Given the description of an element on the screen output the (x, y) to click on. 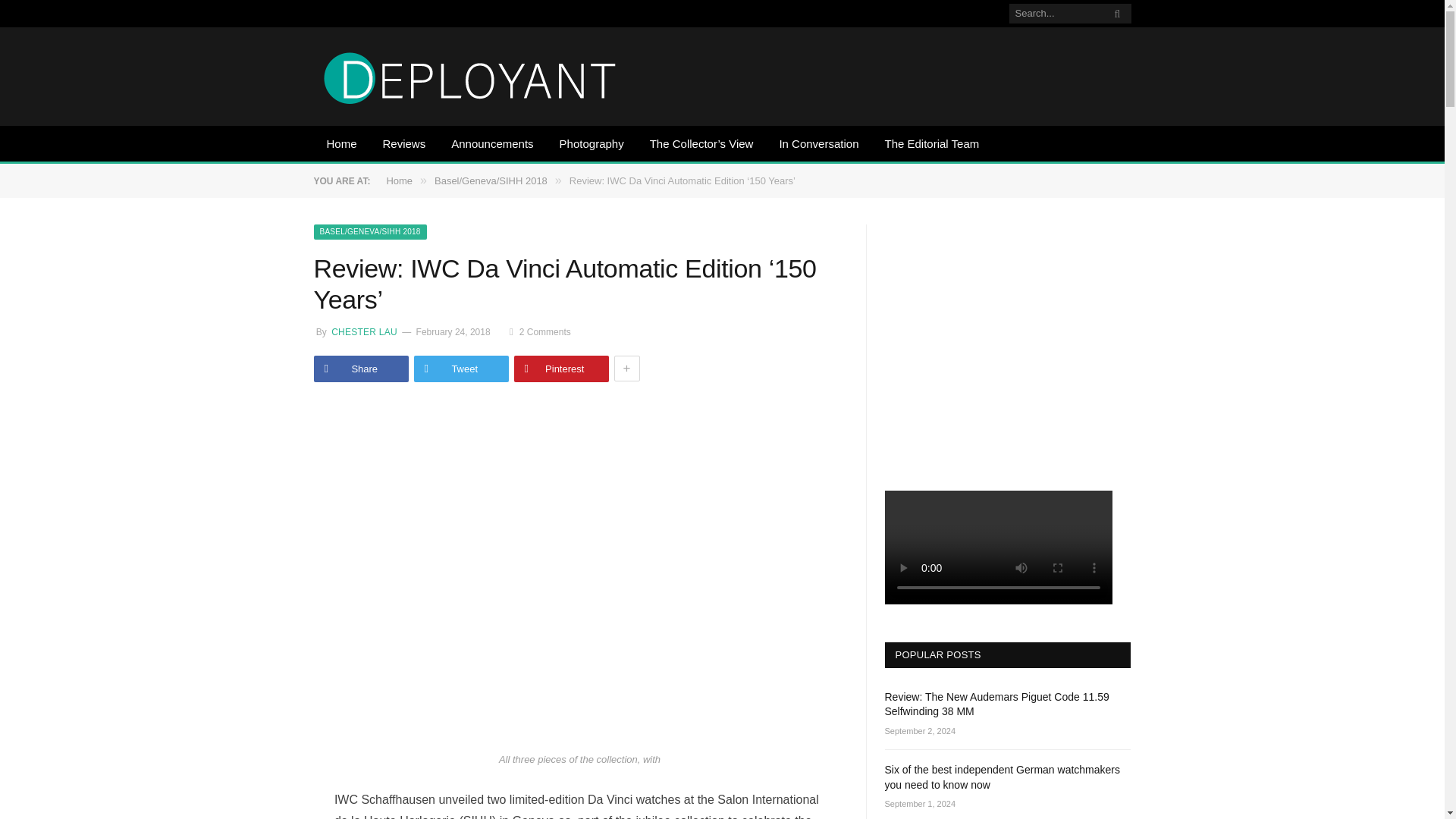
The Editorial Team (930, 144)
CHESTER LAU (363, 331)
Posts by Chester Lau (363, 331)
DEPLOYANT (470, 75)
Home (398, 180)
Tweet (460, 368)
Announcements (492, 144)
In Conversation (817, 144)
2 Comments (539, 331)
Reviews (404, 144)
